Given the description of an element on the screen output the (x, y) to click on. 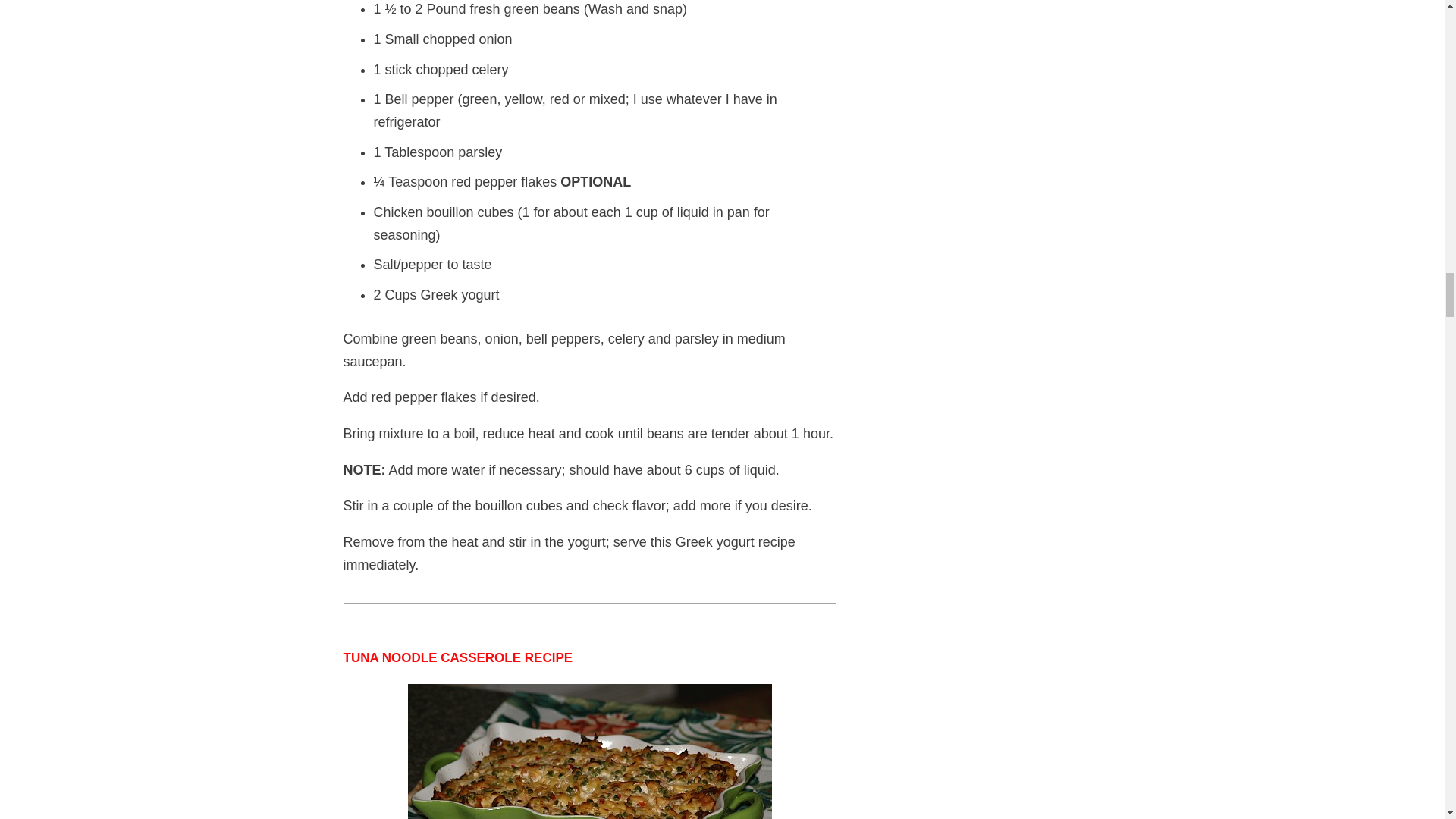
Tuna Noodle Casserole Recipe (589, 751)
